Given the description of an element on the screen output the (x, y) to click on. 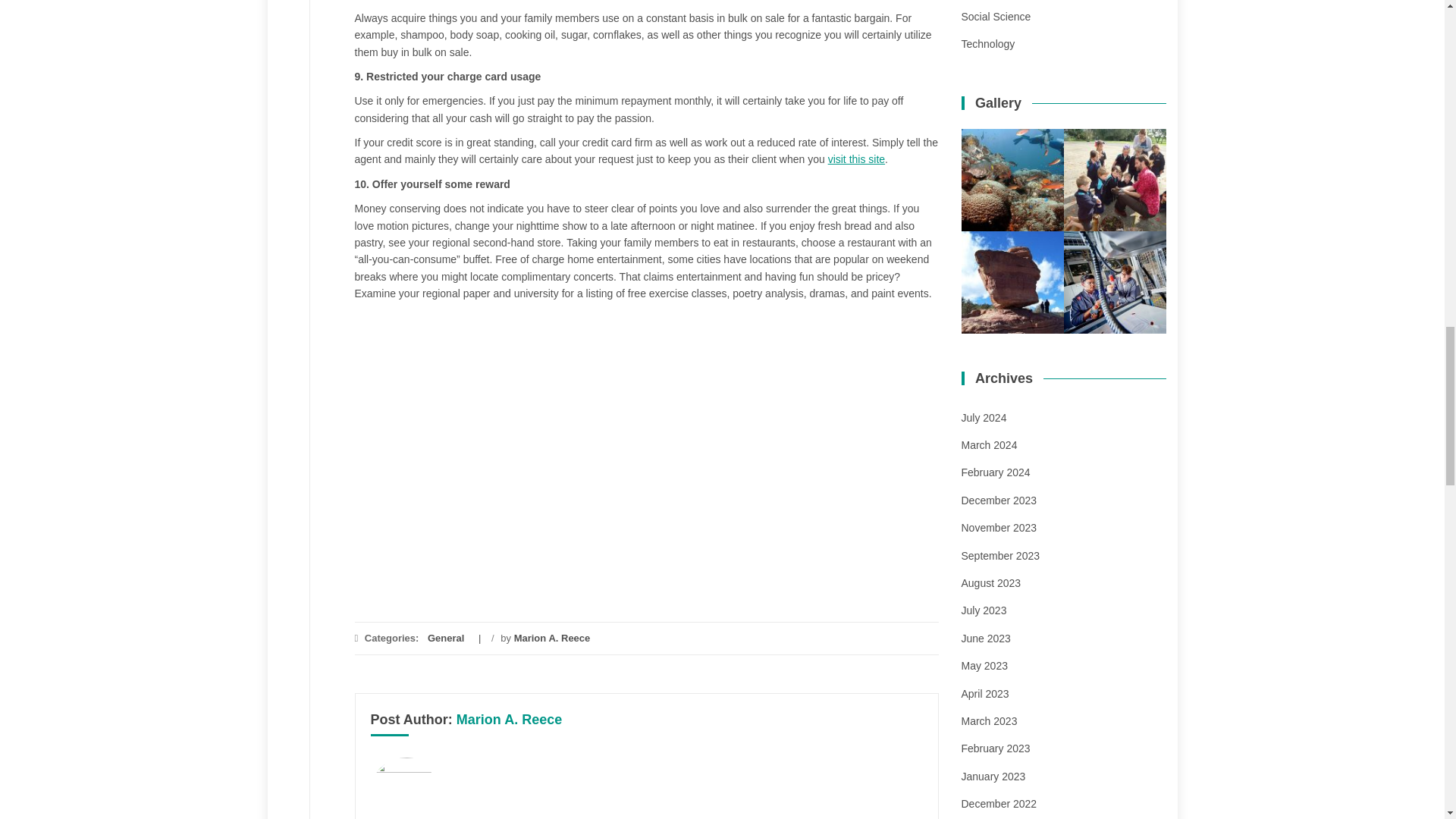
Marion A. Reece (552, 637)
General (446, 637)
visit this site (856, 159)
Marion A. Reece (509, 719)
